Given the description of an element on the screen output the (x, y) to click on. 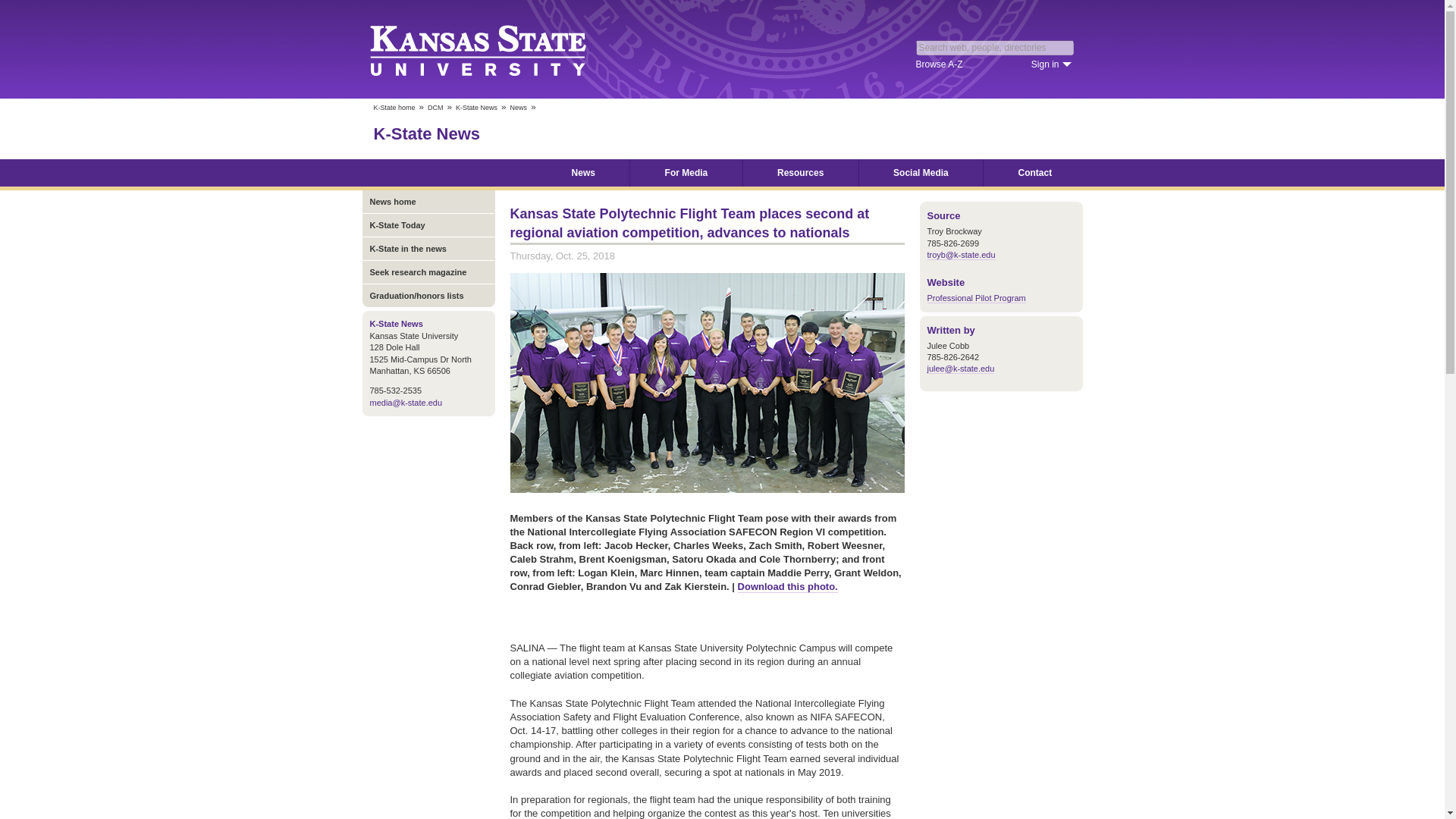
For Media (685, 172)
K-State home (393, 107)
Flight Team (706, 382)
K-State News (476, 107)
Browse A-Z (938, 63)
Social Media (920, 172)
Home (479, 172)
DCM (436, 107)
News (519, 107)
Search web, people, directories (994, 47)
K-State News (426, 133)
News (582, 172)
Kansas State University (496, 49)
Sign in (1050, 64)
Resources (800, 172)
